Given the description of an element on the screen output the (x, y) to click on. 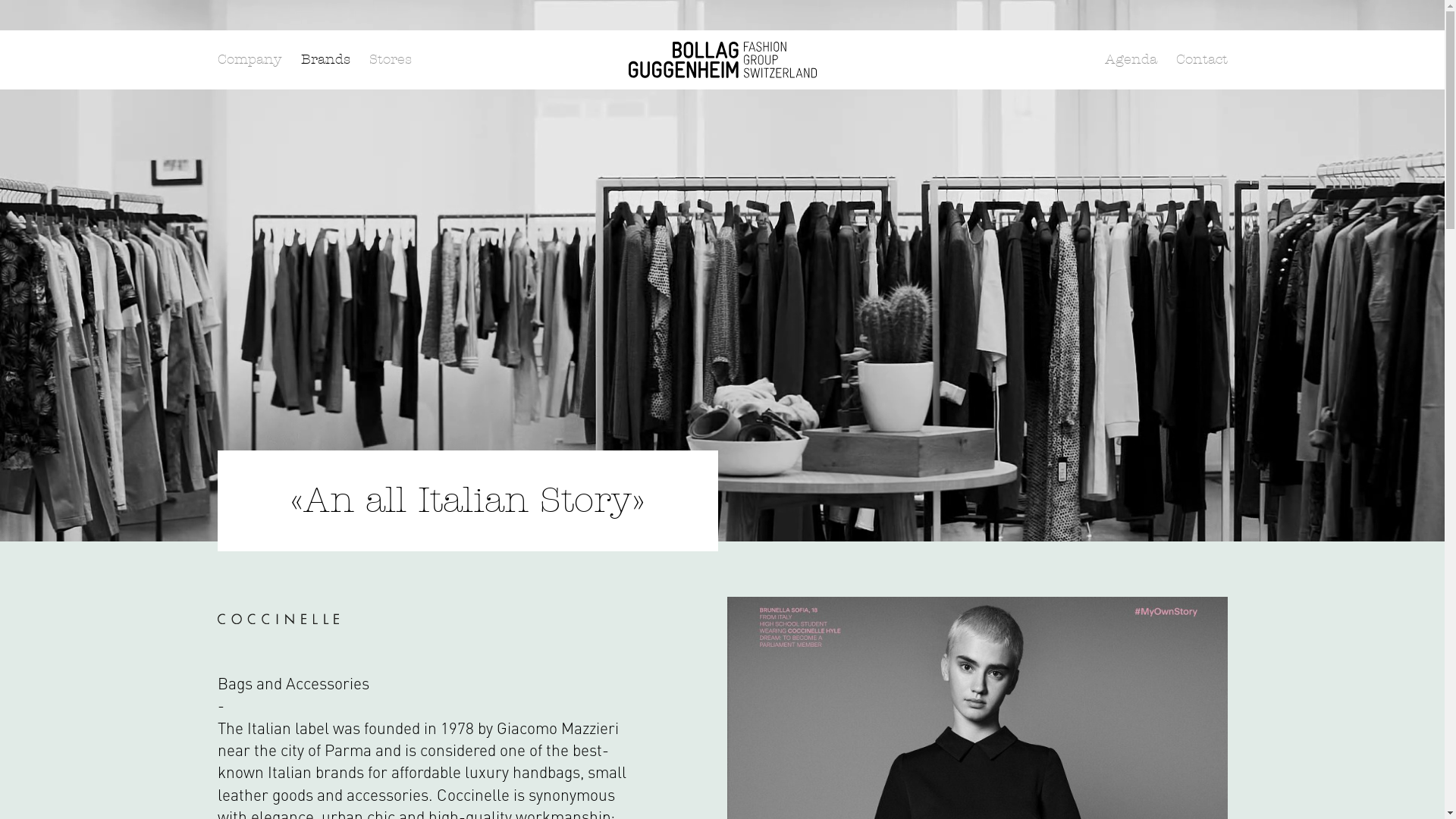
Stores Element type: text (389, 59)
Brands Element type: text (324, 59)
Company Element type: text (248, 59)
Contact Element type: text (1200, 59)
Agenda Element type: text (1130, 59)
